Given the description of an element on the screen output the (x, y) to click on. 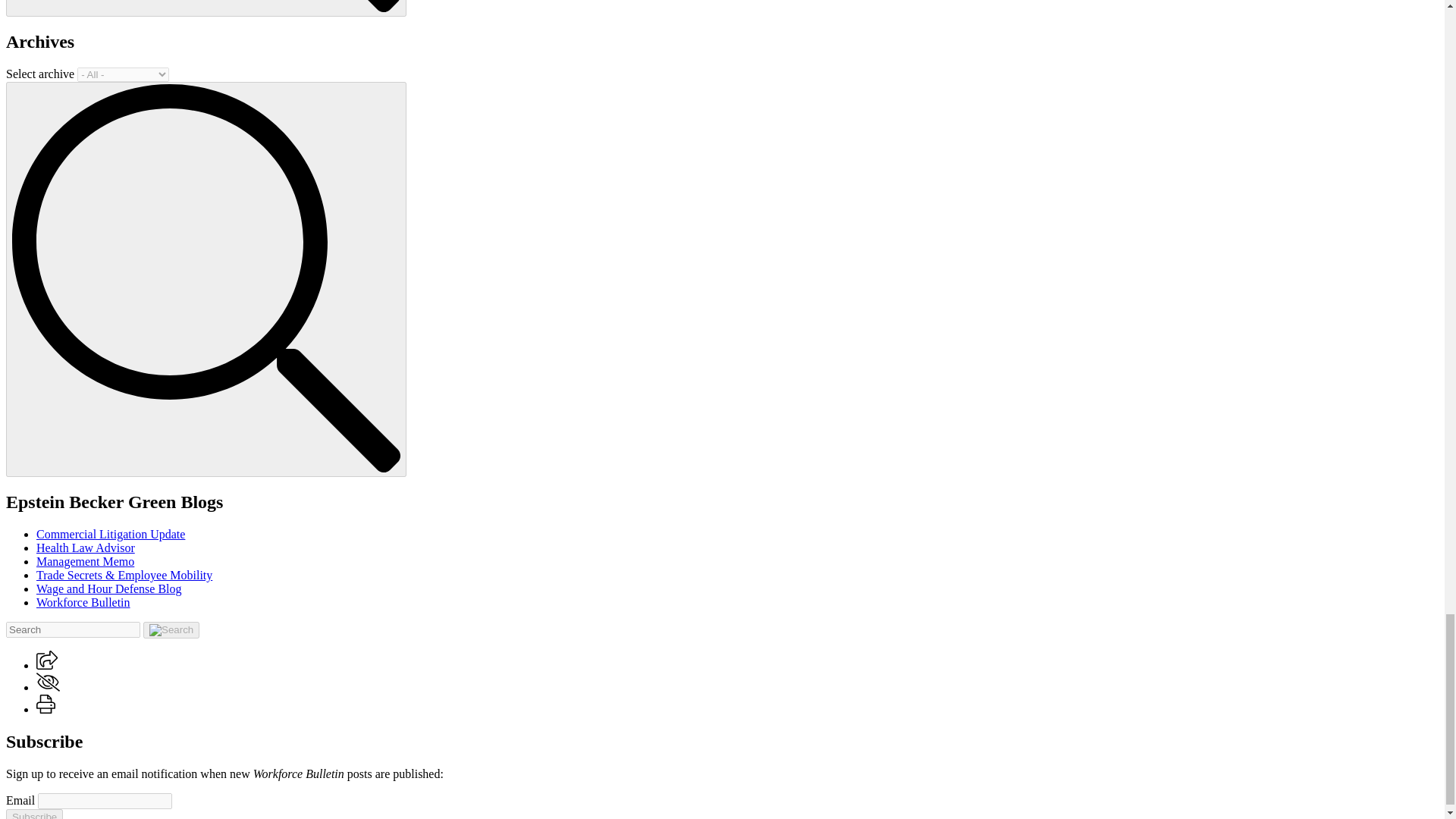
Share (47, 665)
Print (45, 703)
Go to the privacy settings (47, 681)
Share (47, 659)
Search (205, 6)
